Given the description of an element on the screen output the (x, y) to click on. 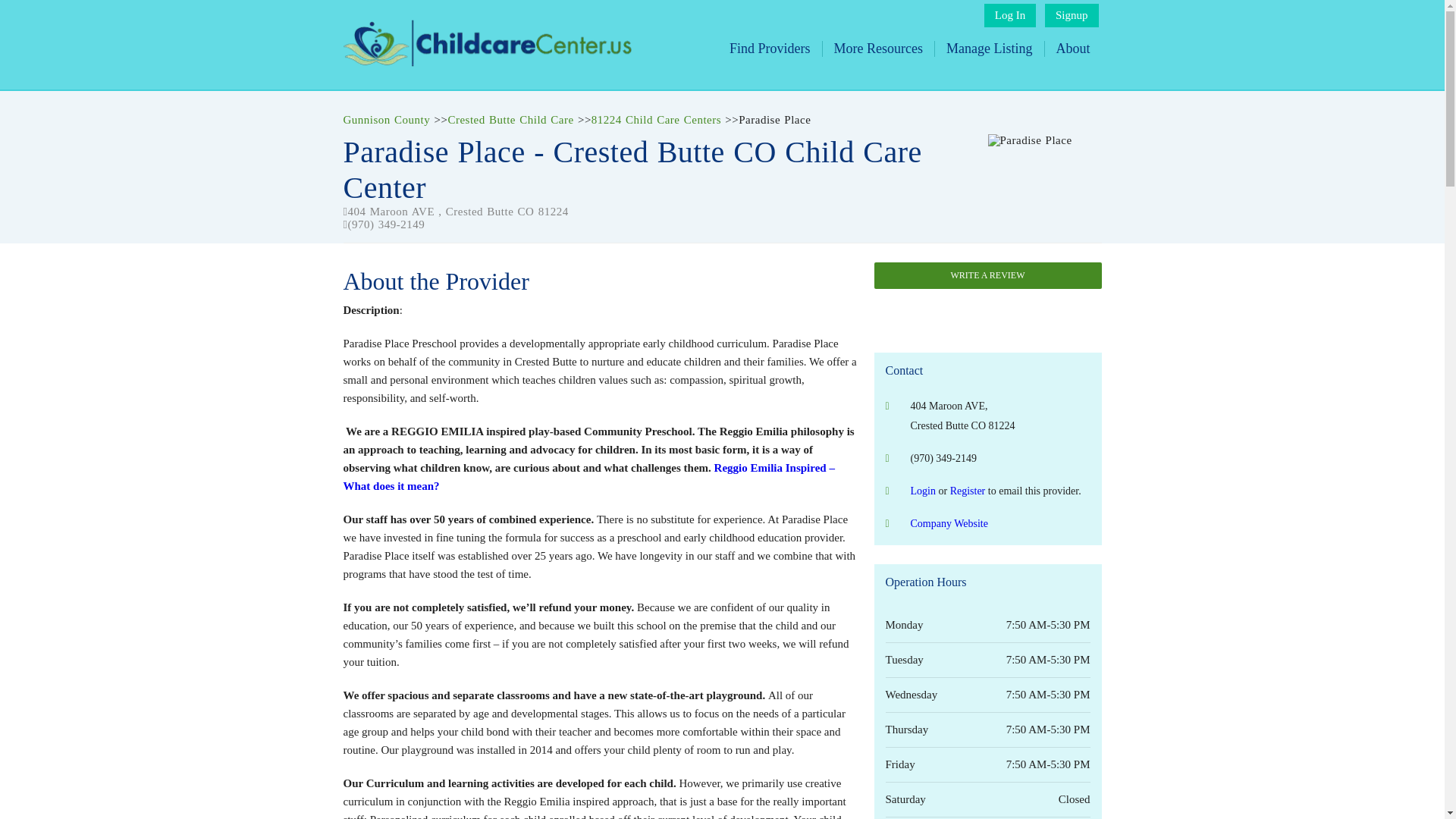
Log In (1009, 15)
About (1072, 48)
Log In (1009, 15)
More Resources (878, 48)
Childcare Center, Preschools, and Home Daycare (486, 62)
Register (967, 490)
Crested Butte Child Care (509, 119)
Signup (1072, 15)
Company Website (948, 523)
WRITE A REVIEW (986, 275)
